Given the description of an element on the screen output the (x, y) to click on. 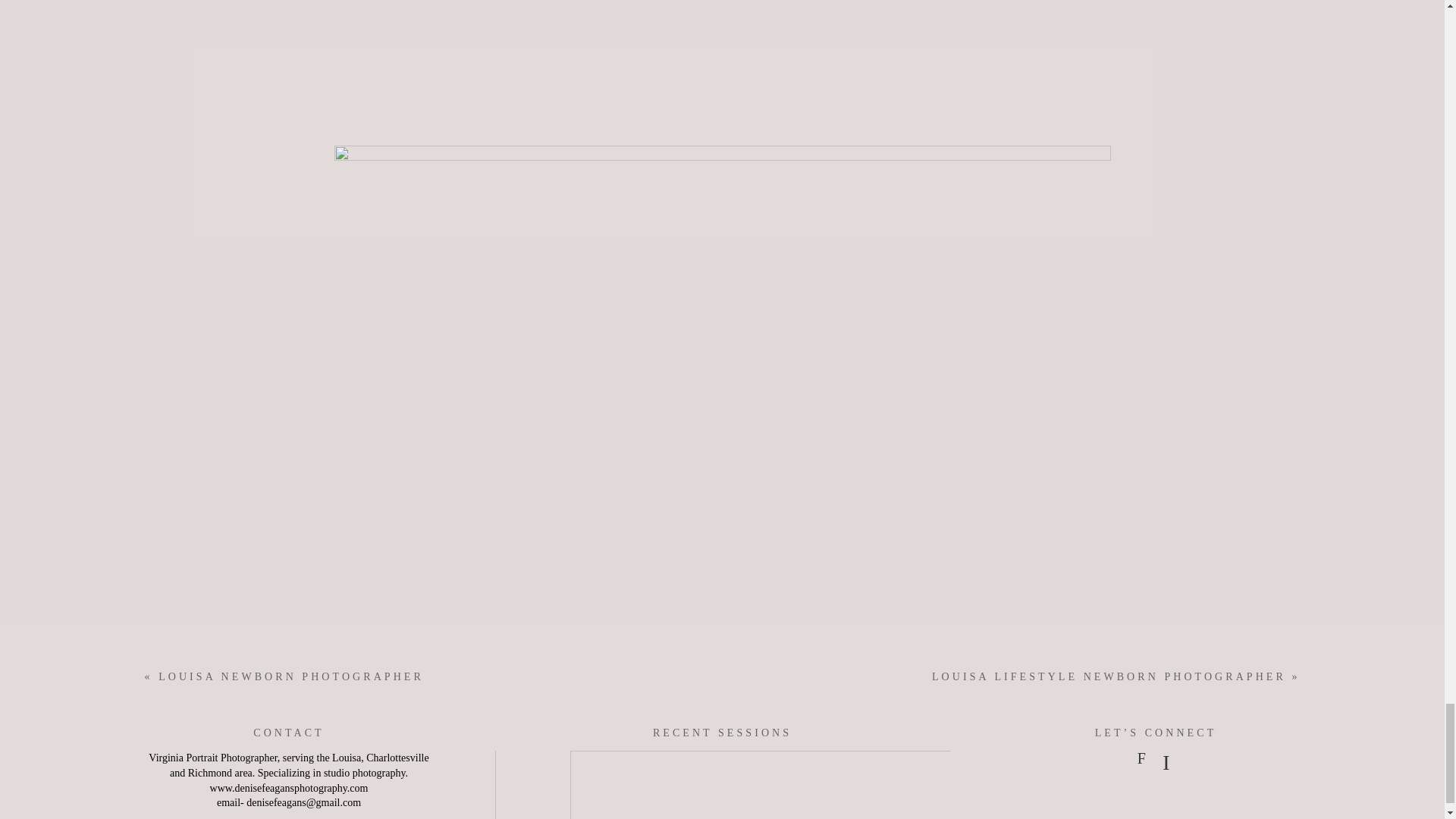
LOUISA LIFESTYLE NEWBORN PHOTOGRAPHER (1108, 676)
LOUISA NEWBORN PHOTOGRAPHER (290, 676)
